Given the description of an element on the screen output the (x, y) to click on. 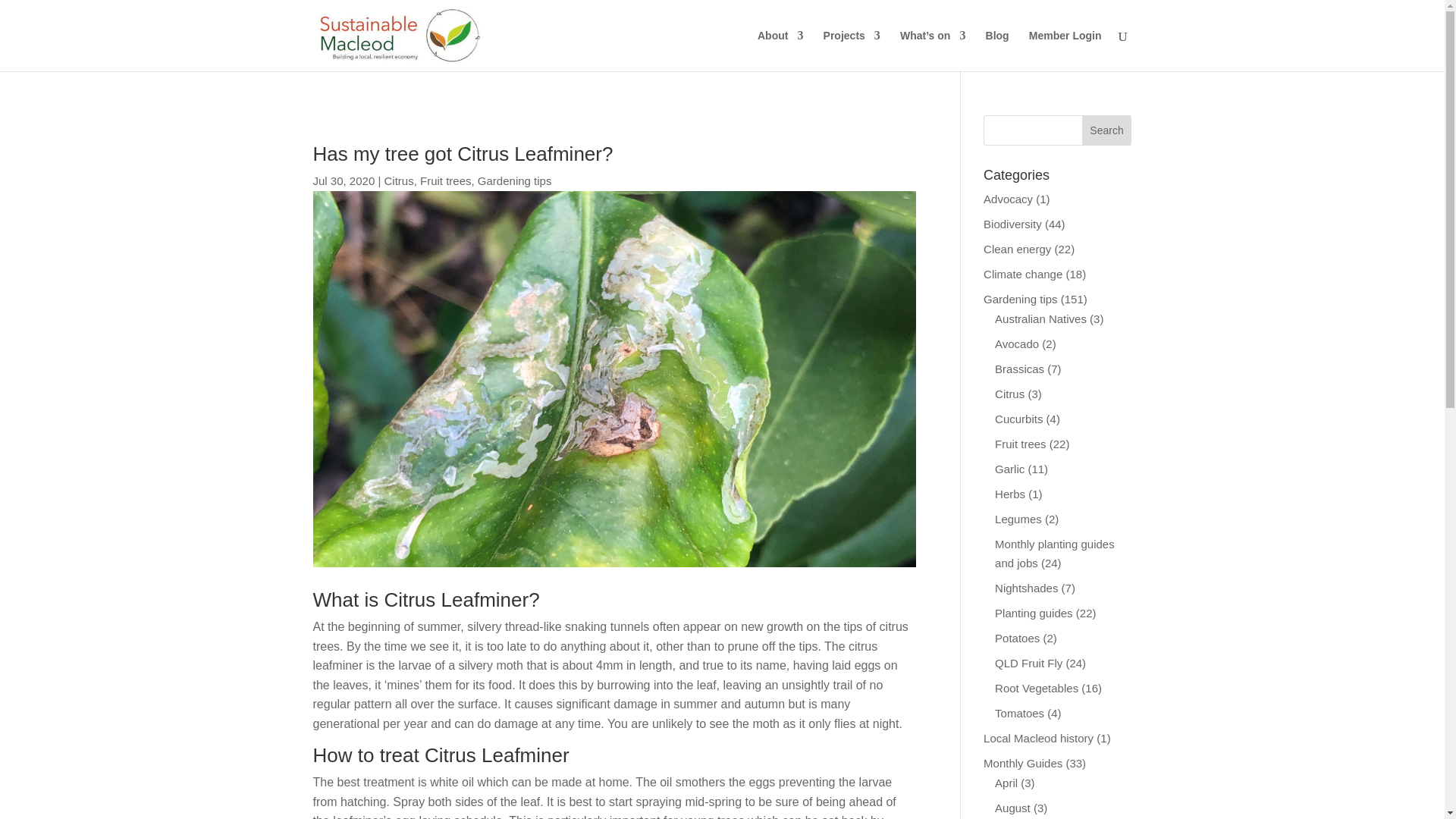
Biodiversity (1013, 223)
Fruit trees (445, 180)
Citrus (398, 180)
Search (1106, 130)
Advocacy (1008, 198)
Gardening tips (514, 180)
Gardening tips (1021, 298)
Clean energy (1017, 248)
Member Login (1065, 50)
Climate change (1023, 273)
About (780, 50)
Australian Natives (1040, 318)
Projects (852, 50)
Search (1106, 130)
